Given the description of an element on the screen output the (x, y) to click on. 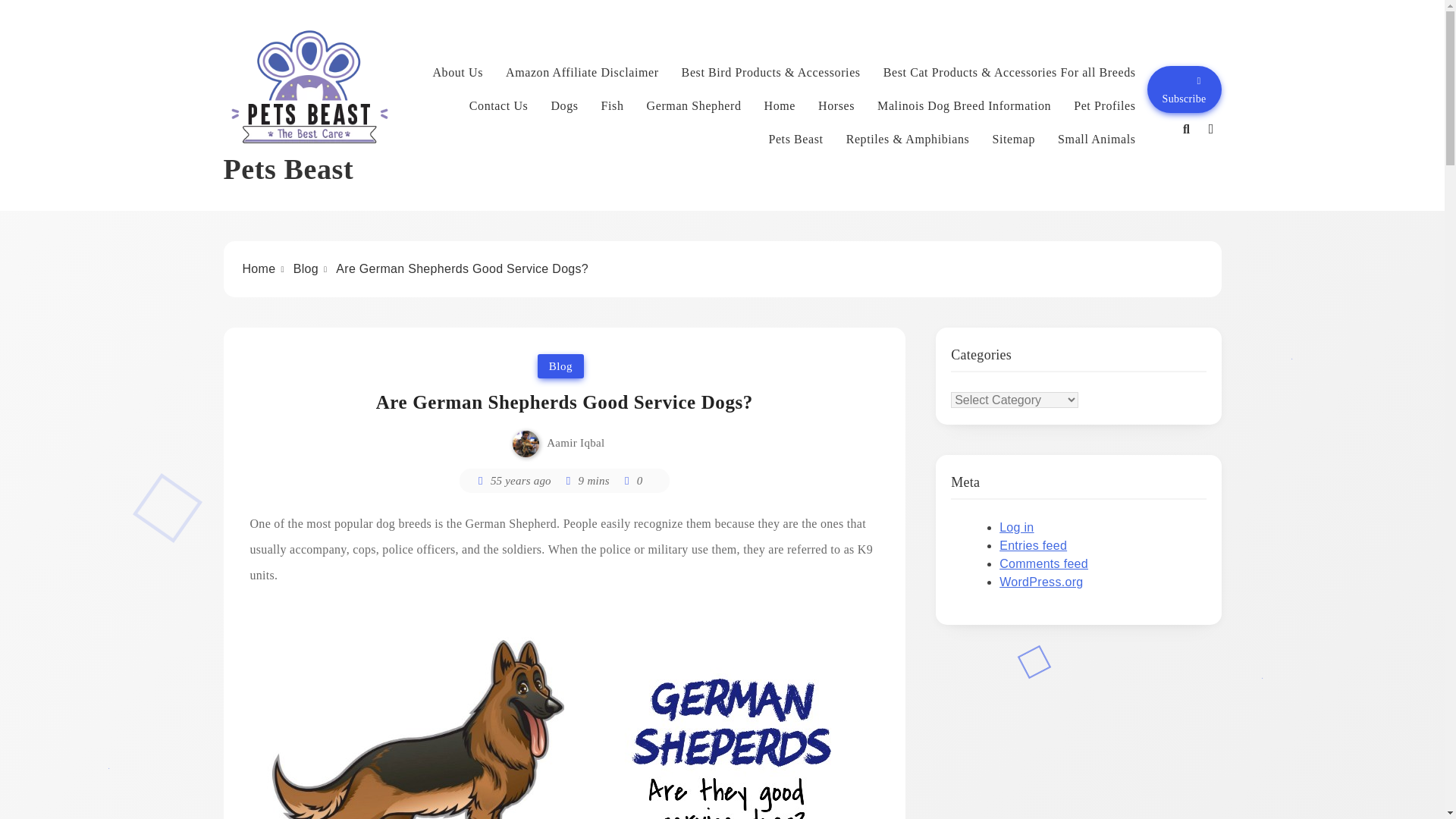
About Us (457, 72)
0 (632, 480)
Contact Us (498, 106)
German Shepherd (693, 106)
Home (259, 268)
Home (780, 106)
55 years ago (520, 480)
Are German Shepherds Good Service Dogs? 1 (563, 712)
Pet Profiles (1104, 106)
Pets Beast (795, 139)
